Given the description of an element on the screen output the (x, y) to click on. 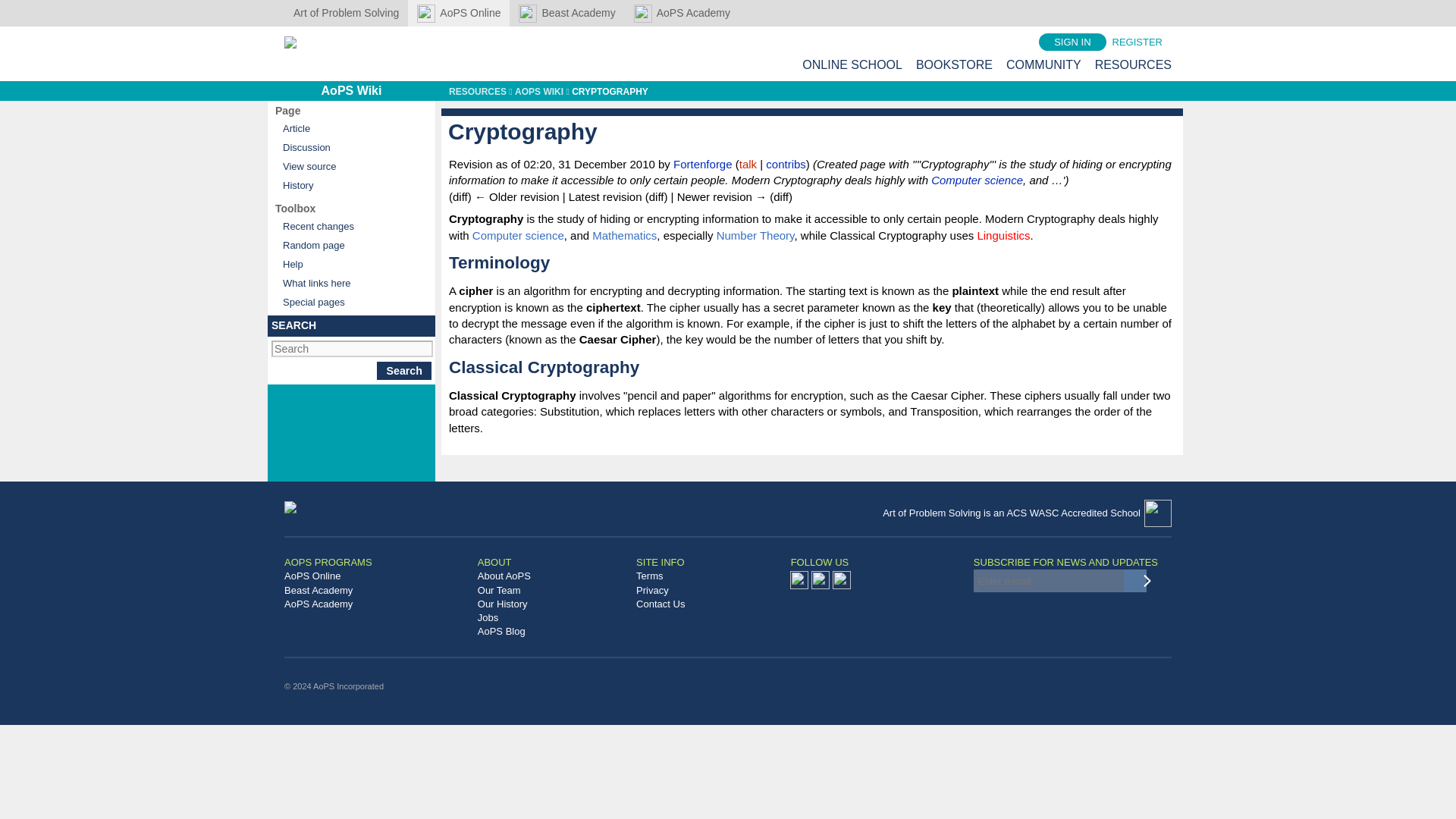
User:Fortenforge (702, 164)
RESOURCES (1133, 64)
Computer science (977, 179)
Beast Academy (566, 13)
A list of recent changes in the wiki  (350, 226)
A list of all special pages  (350, 302)
Search the pages for this text (403, 370)
The place to find out (350, 263)
AoPS Online (458, 13)
Search (403, 370)
